Given the description of an element on the screen output the (x, y) to click on. 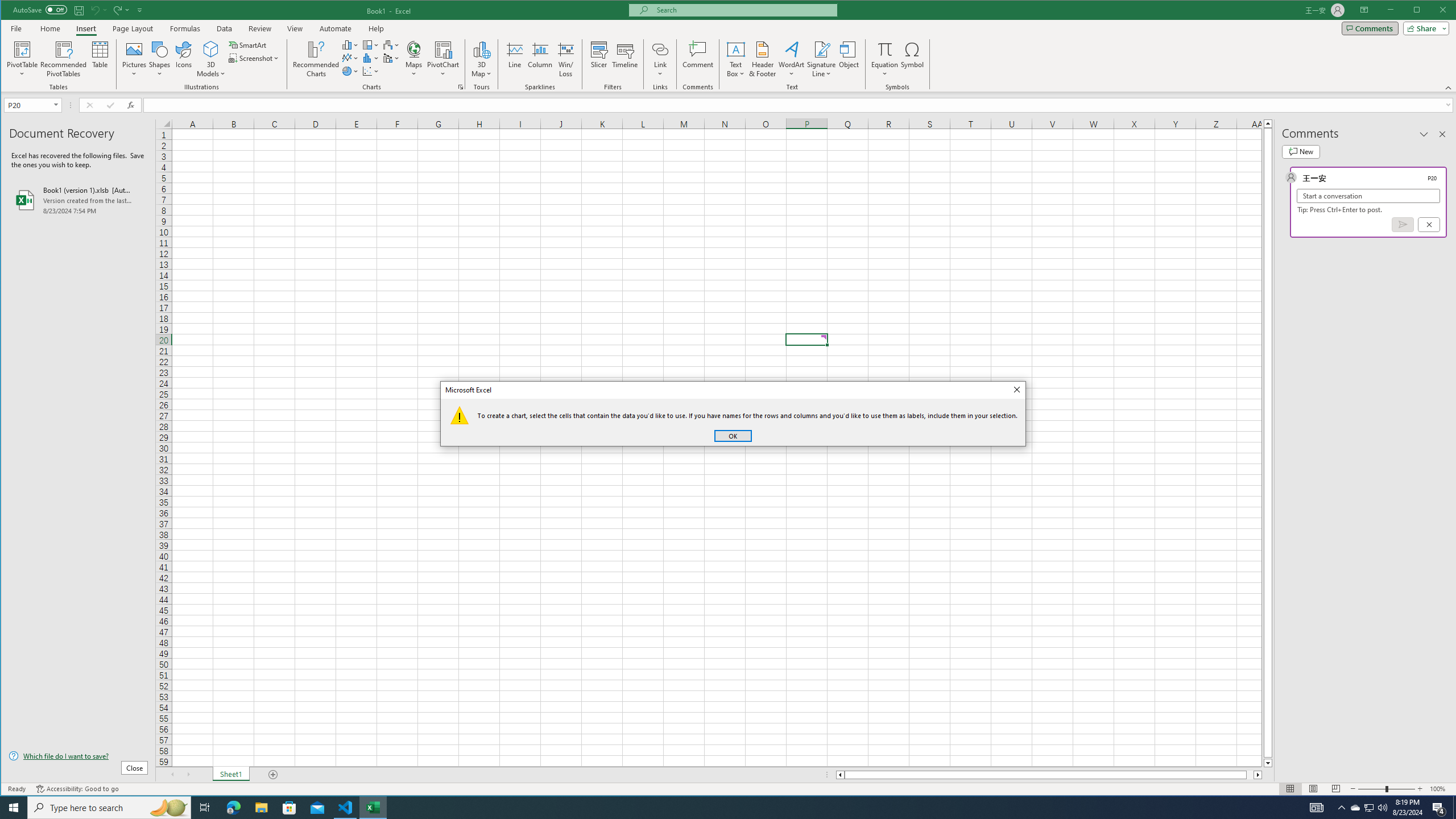
Equation (884, 59)
Signature Line (821, 59)
Insert Column or Bar Chart (350, 44)
Object... (848, 59)
Insert Scatter (X, Y) or Bubble Chart (371, 70)
Q2790: 100% (1382, 807)
Column (540, 59)
Comment (697, 59)
Slicer... (598, 59)
Insert Waterfall, Funnel, Stock, Surface, or Radar Chart (391, 44)
